Given the description of an element on the screen output the (x, y) to click on. 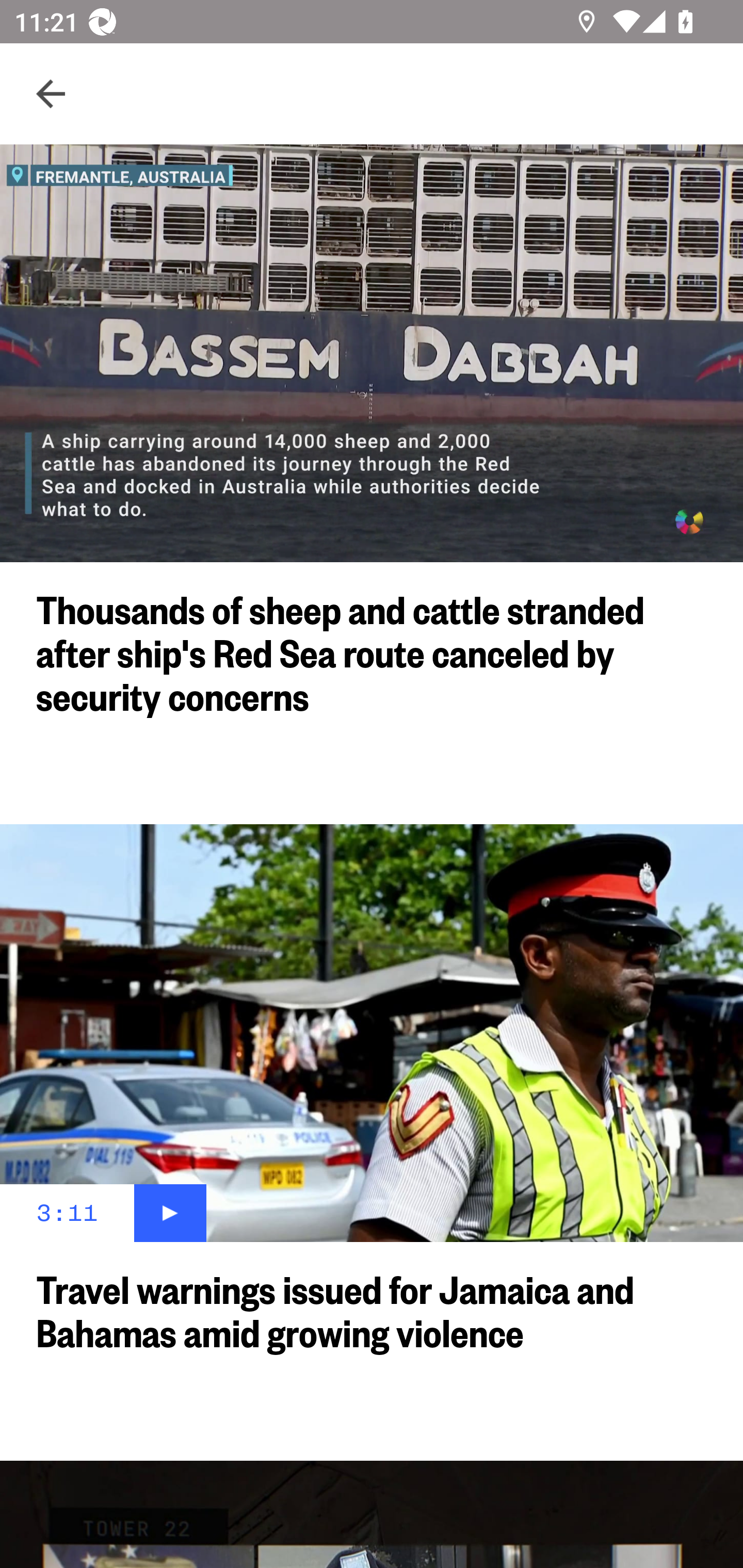
Navigate up (50, 93)
